Given the description of an element on the screen output the (x, y) to click on. 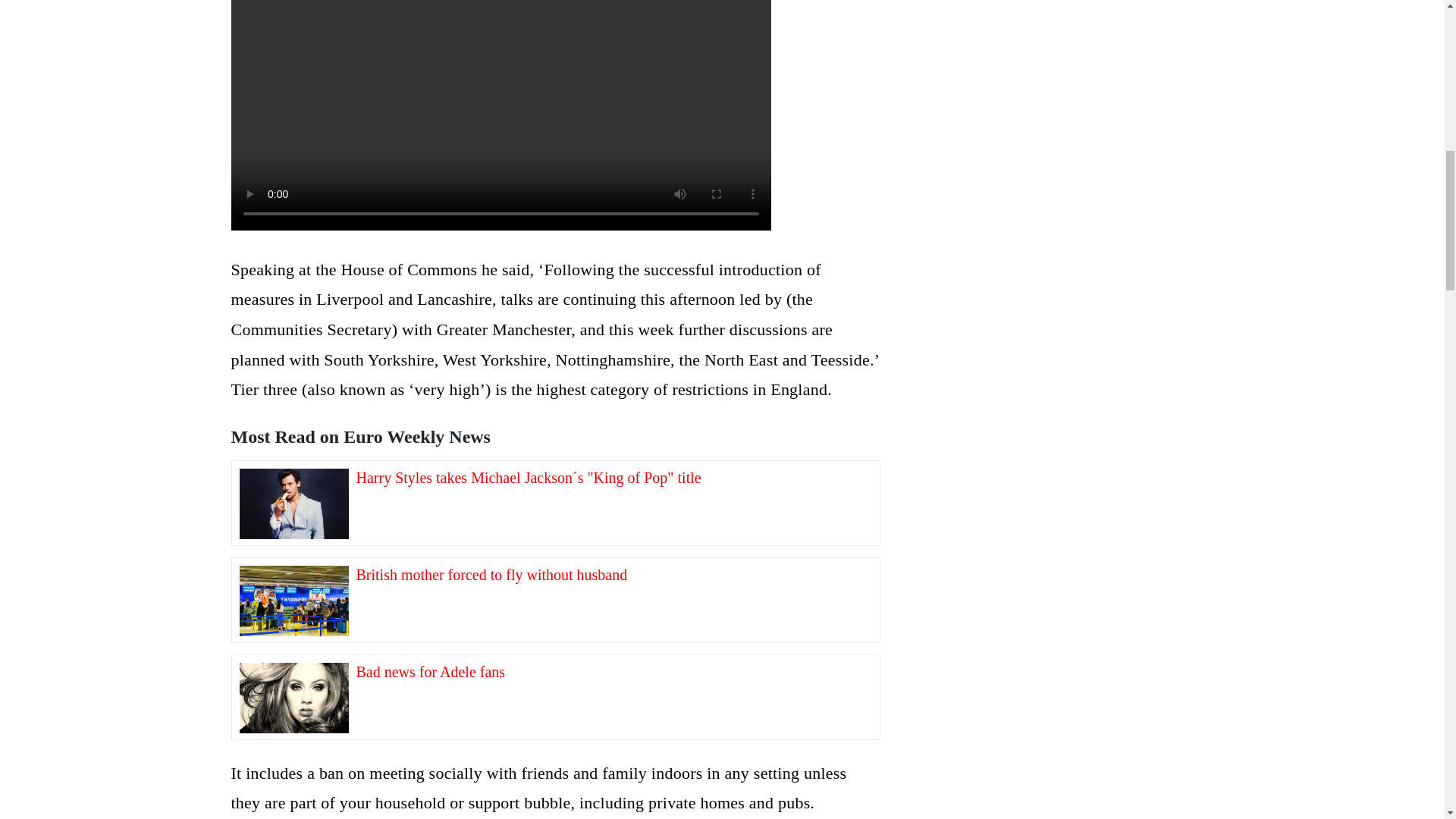
British mother forced to fly without husband (293, 596)
Bad news for Adele fans (293, 694)
